Given the description of an element on the screen output the (x, y) to click on. 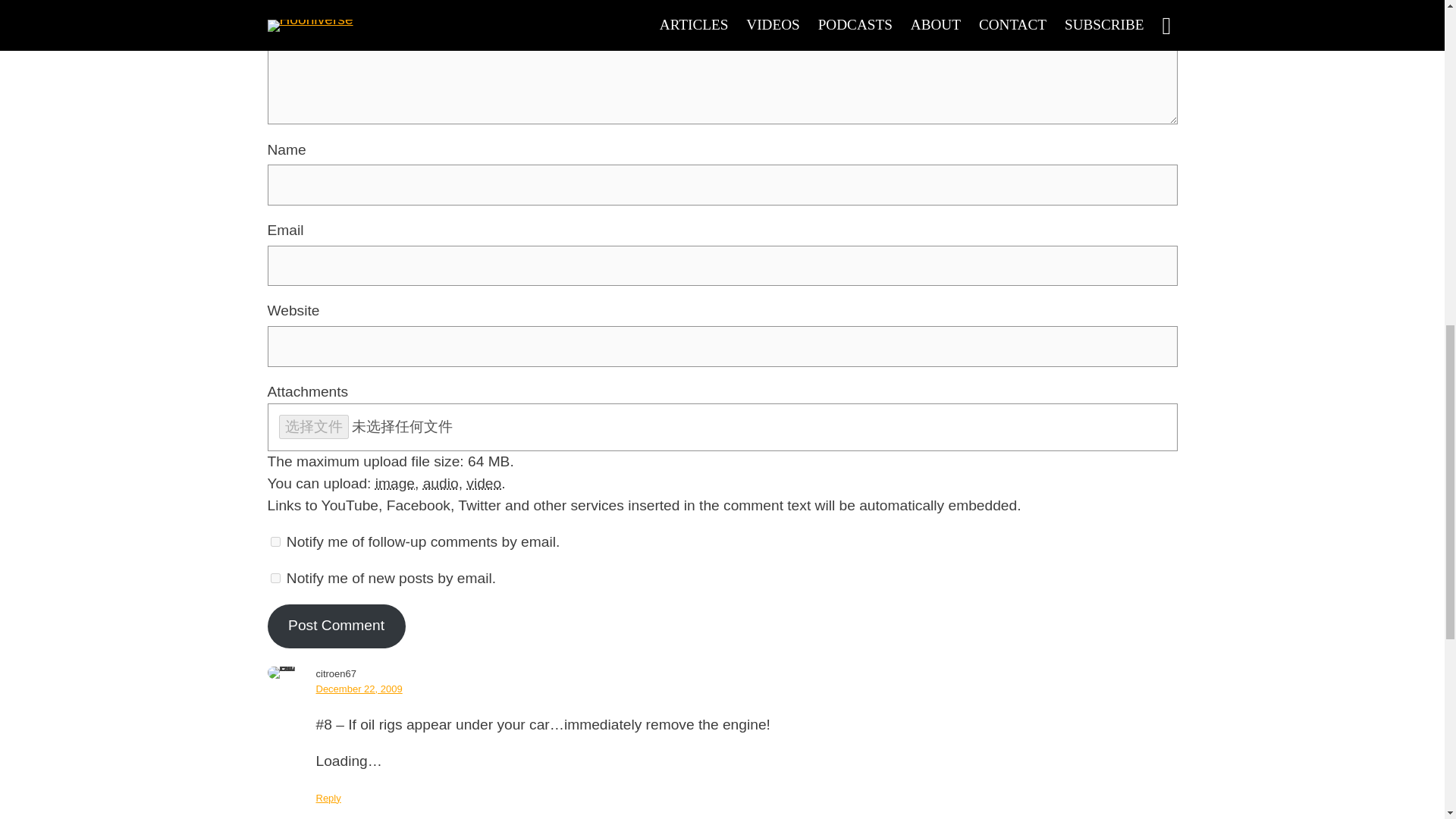
mp3, m4a, m4b, aac, ram, wav, ogg, oga, flac, wma, mka (440, 483)
jpg, jpeg, jpe, gif, png, bmp, tiff, tif, ico, heic (394, 483)
Post Comment (335, 626)
subscribe (274, 578)
December 22, 2009 (358, 688)
subscribe (274, 542)
Reply (327, 797)
Post Comment (335, 626)
